Given the description of an element on the screen output the (x, y) to click on. 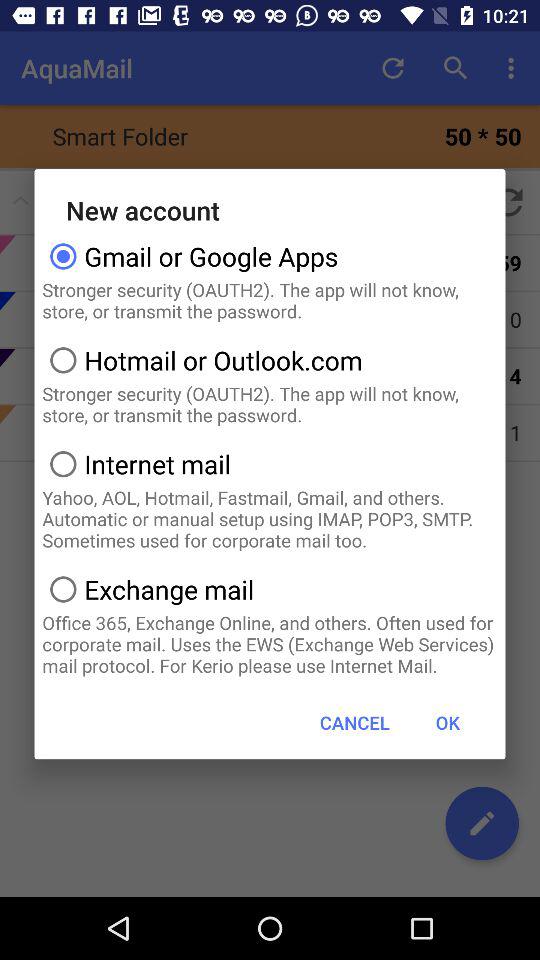
turn on icon at the bottom right corner (447, 722)
